Given the description of an element on the screen output the (x, y) to click on. 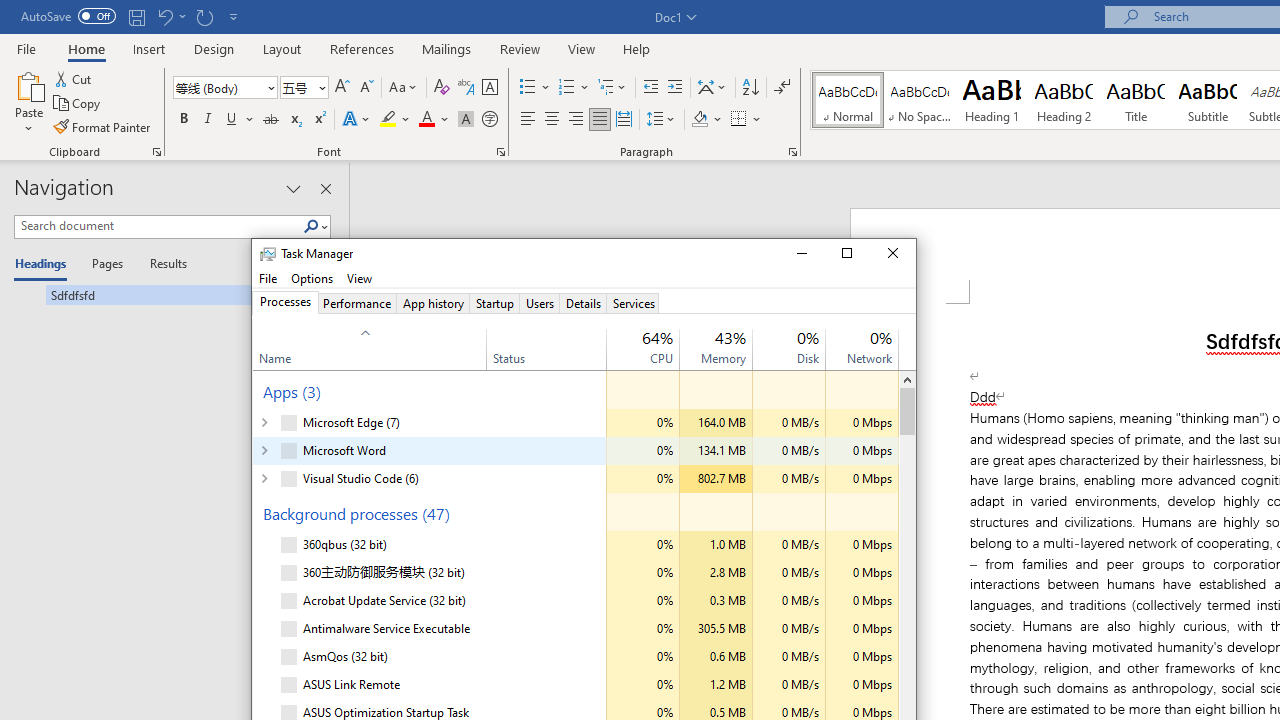
Undo  (164, 15)
Memory (715, 685)
AutomationID: TmColStatusText (490, 685)
Maximize (847, 254)
Users (539, 303)
